Given the description of an element on the screen output the (x, y) to click on. 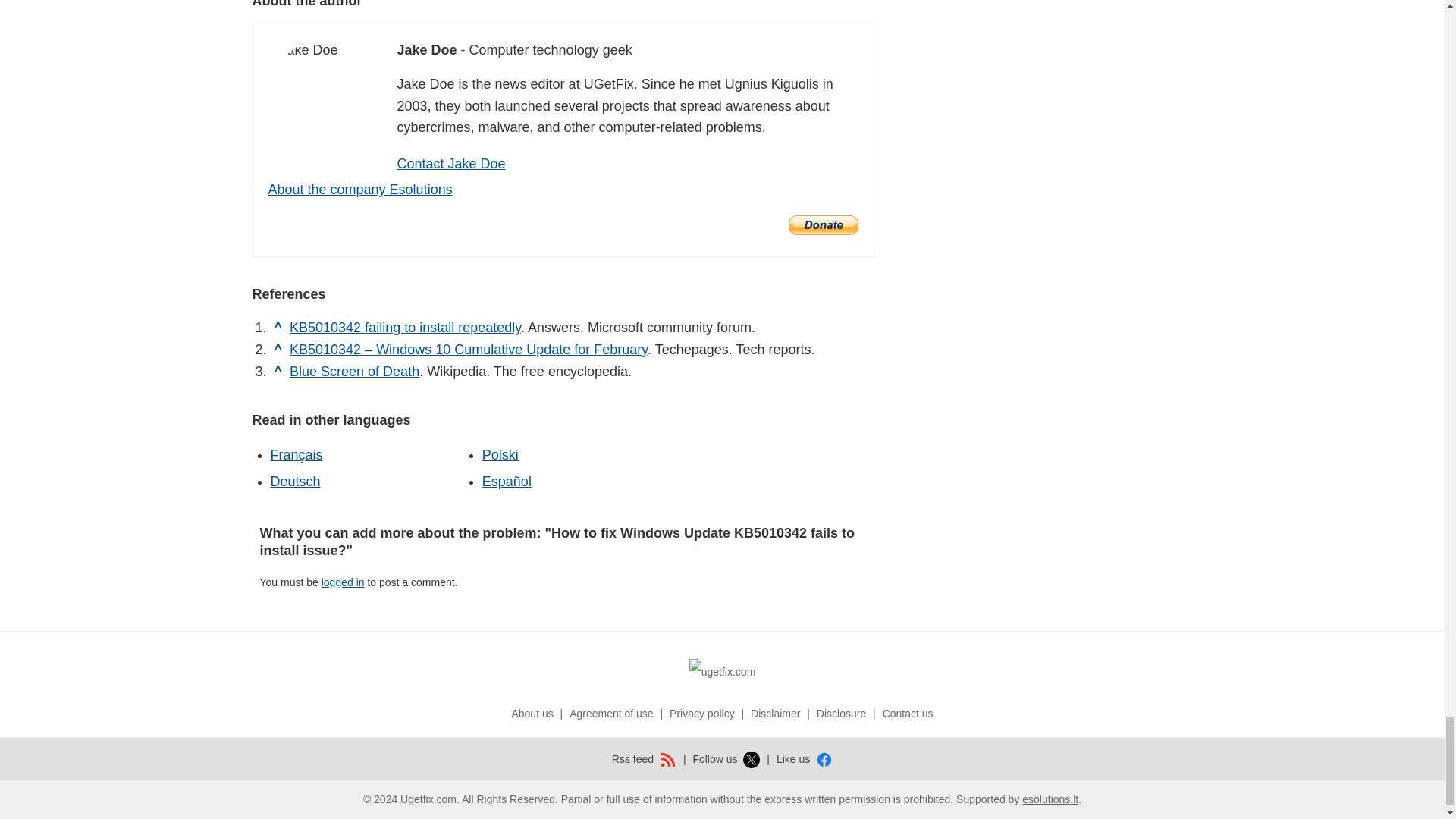
PayPal - The safer, easier way to pay online! (824, 225)
Jake Doe (302, 50)
Deutsch (294, 481)
Polski (499, 454)
